Given the description of an element on the screen output the (x, y) to click on. 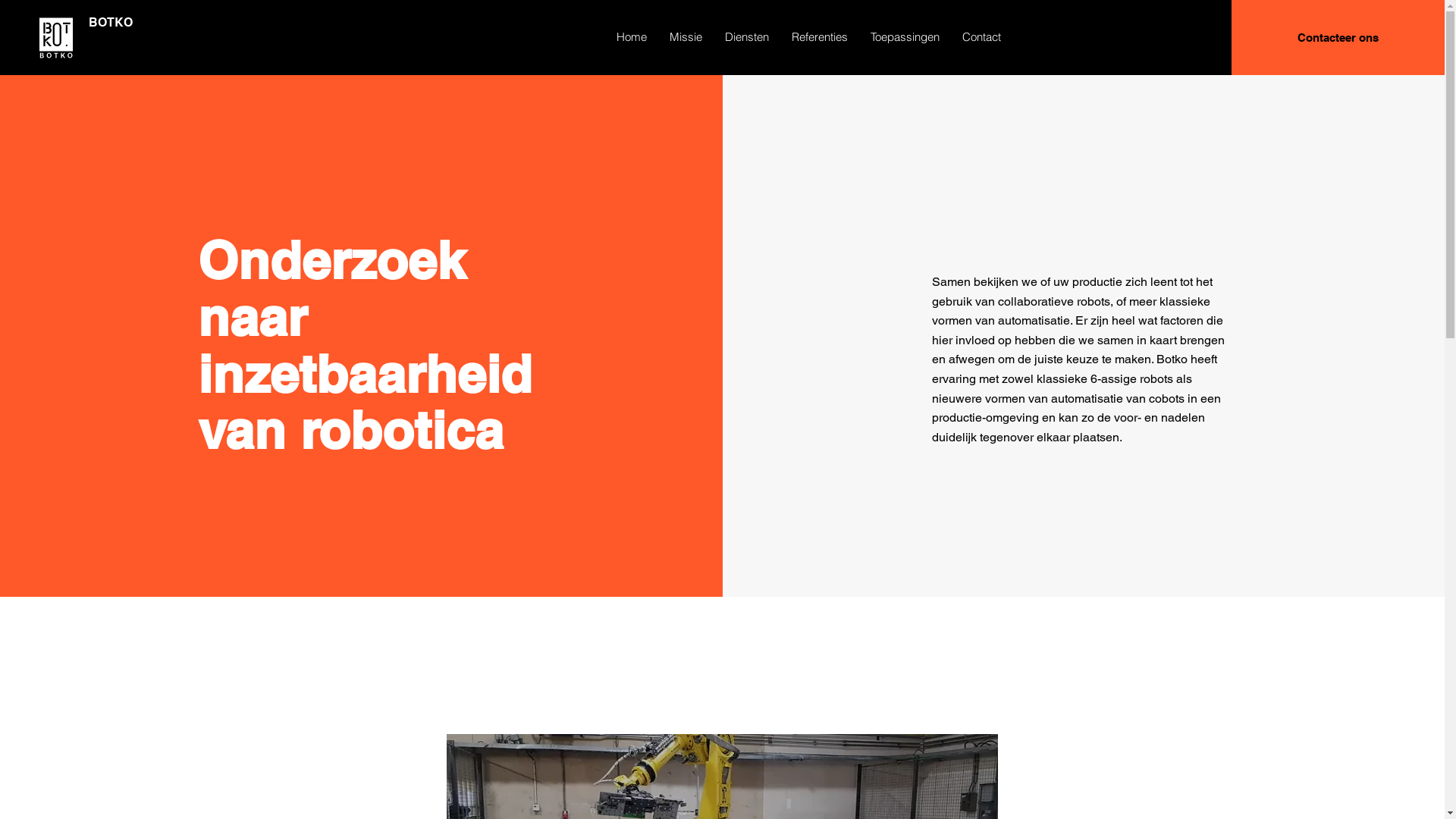
Toepassingen Element type: text (904, 37)
Contact Element type: text (981, 37)
BOTKO Element type: text (110, 22)
Home Element type: text (631, 37)
Contacteer ons Element type: text (1337, 37)
Referenties Element type: text (819, 37)
Missie Element type: text (685, 37)
Diensten Element type: text (746, 37)
